Given the description of an element on the screen output the (x, y) to click on. 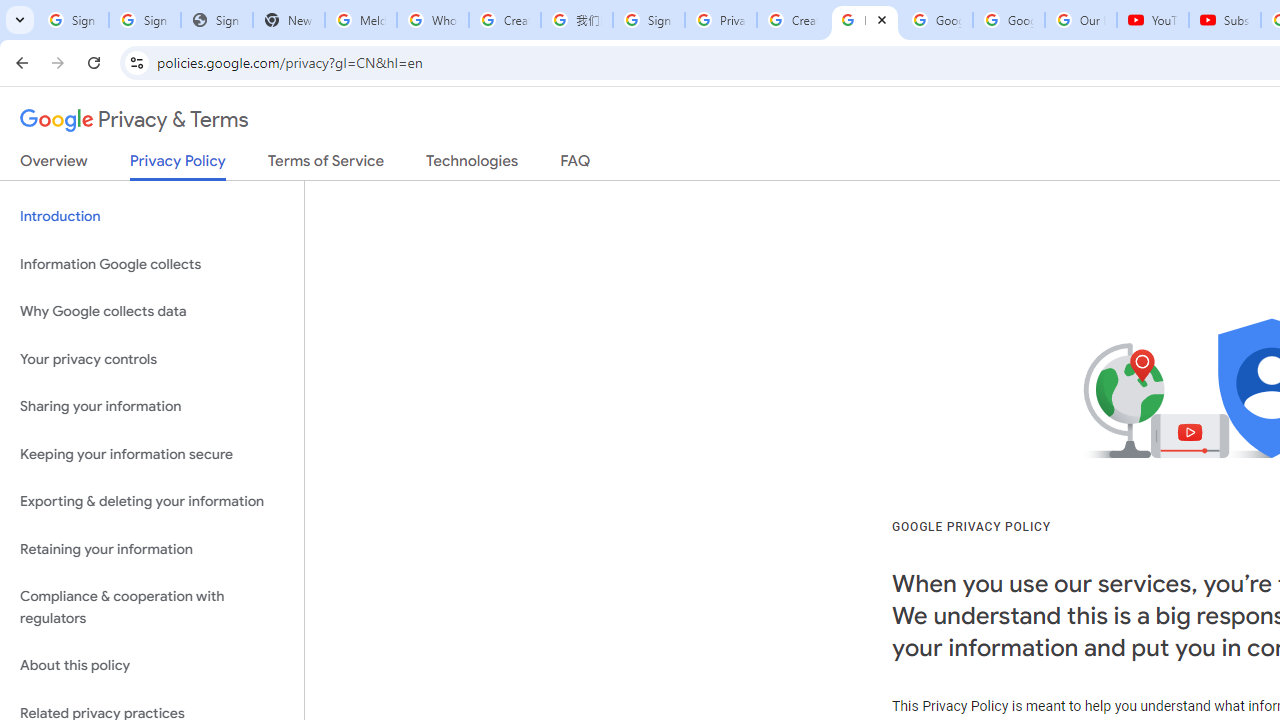
Sign in - Google Accounts (648, 20)
FAQ (575, 165)
Who is my administrator? - Google Account Help (432, 20)
Subscriptions - YouTube (1224, 20)
Introduction (152, 216)
Information Google collects (152, 263)
Create your Google Account (792, 20)
